Given the description of an element on the screen output the (x, y) to click on. 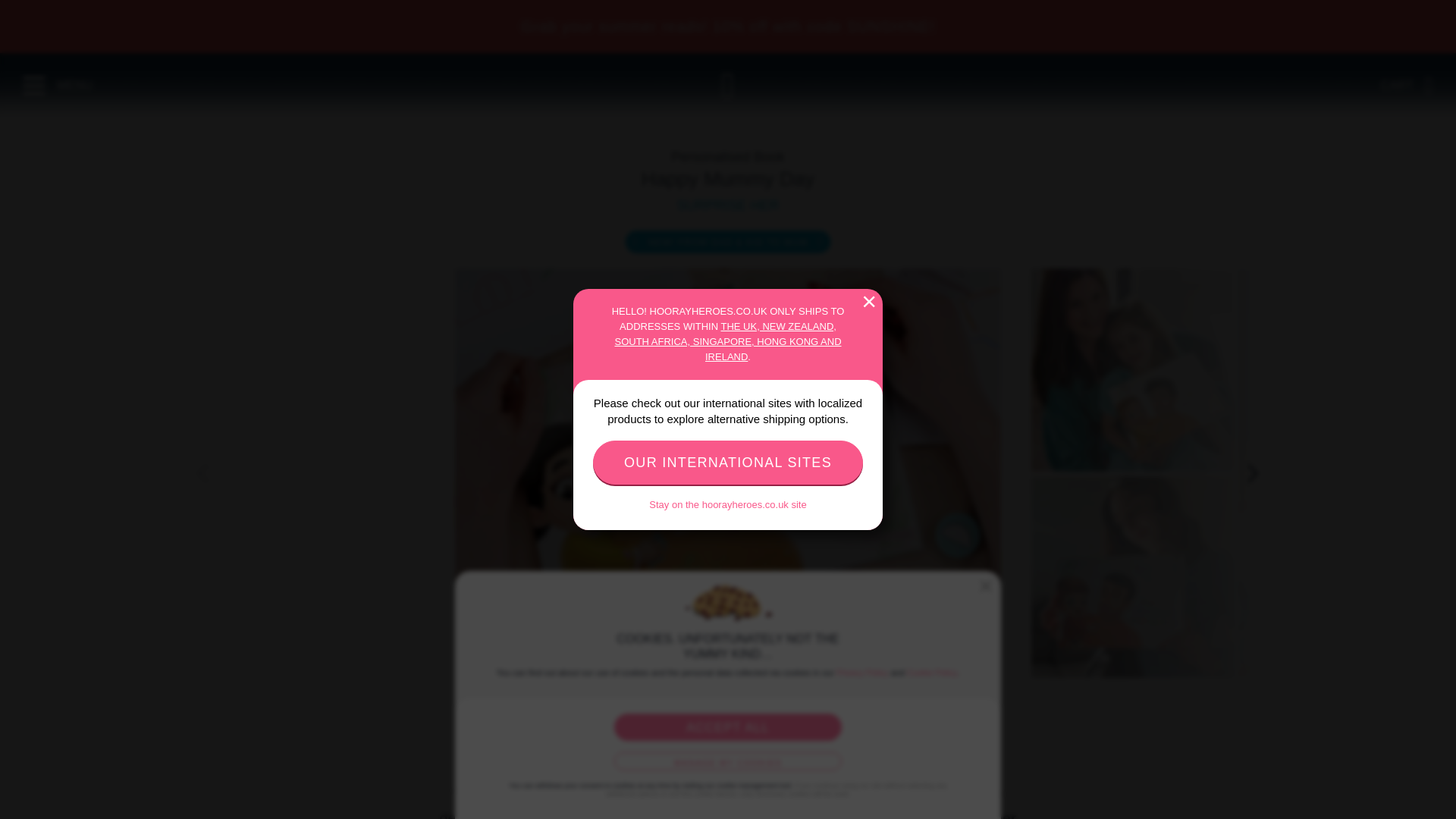
Privacy Policy (861, 672)
